Given the description of an element on the screen output the (x, y) to click on. 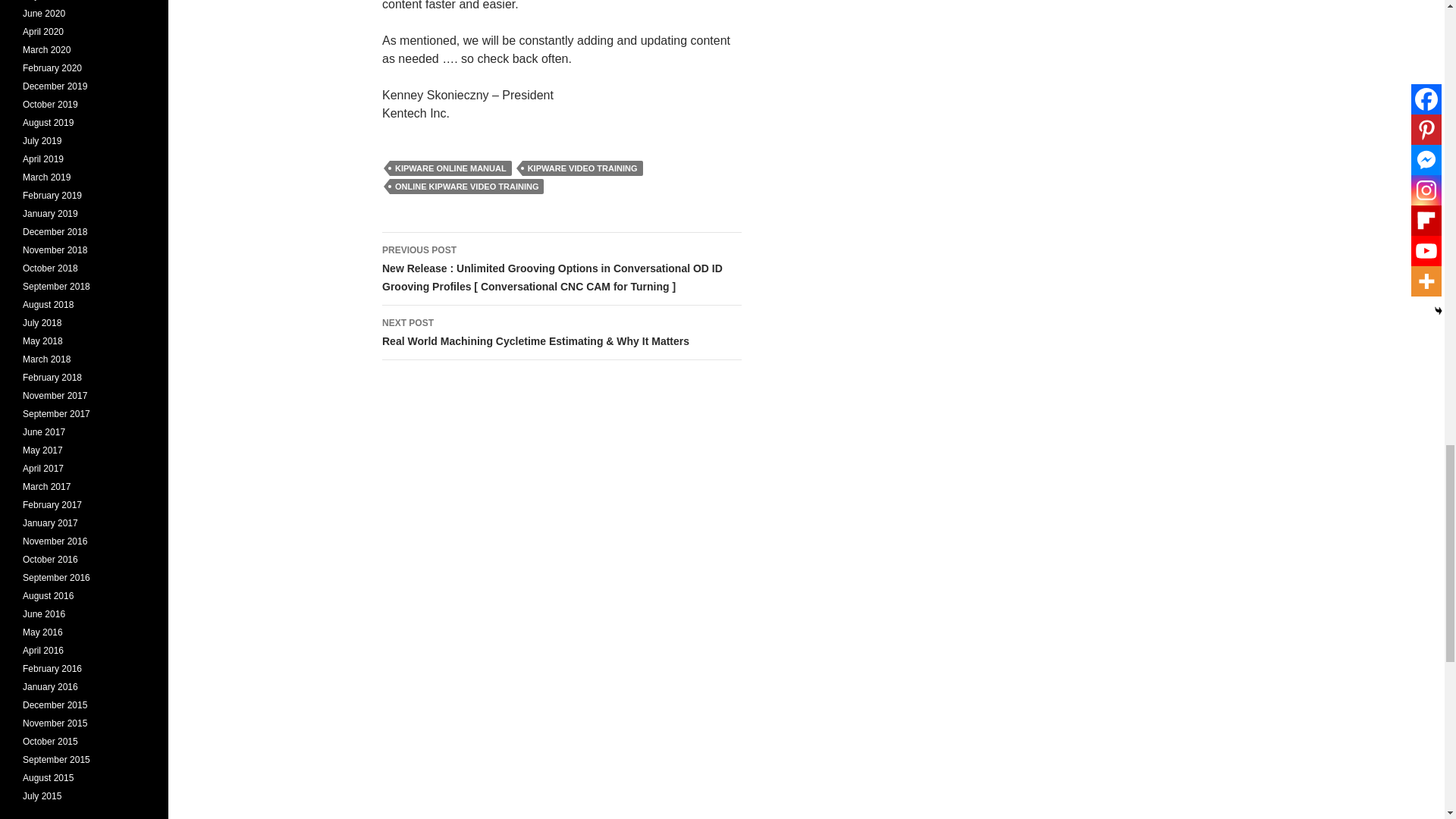
ONLINE KIPWARE VIDEO TRAINING (466, 186)
KIPWARE VIDEO TRAINING (582, 168)
KIPWARE ONLINE MANUAL (451, 168)
